Given the description of an element on the screen output the (x, y) to click on. 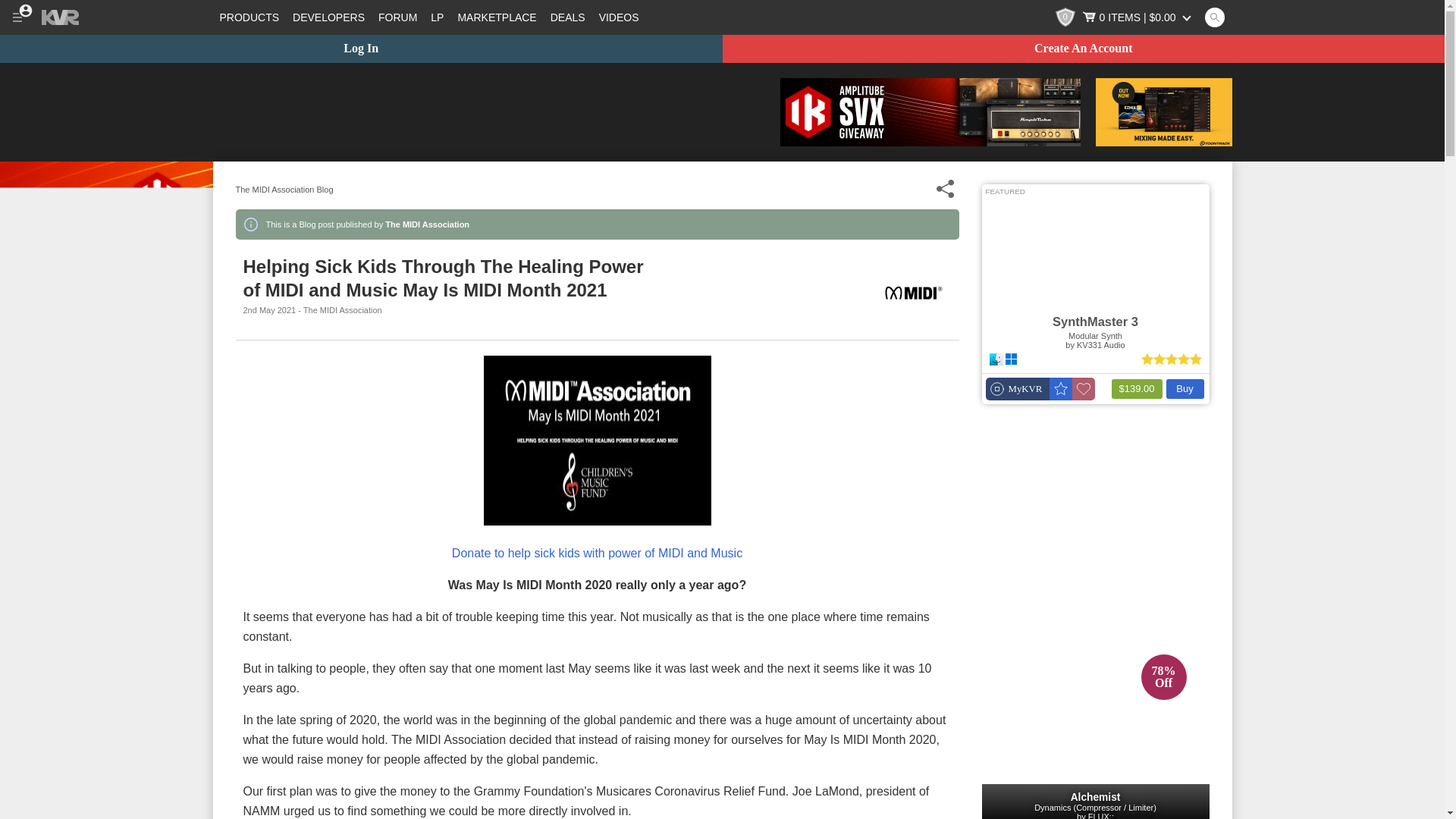
Giveaway! (929, 111)
Forum (397, 17)
Plugins and Products Database (248, 17)
Cart (1137, 17)
Forum Latest Posts (436, 17)
Toontrack - EZMix 3 (1162, 111)
Marketplace (496, 17)
Share This (945, 189)
